Given the description of an element on the screen output the (x, y) to click on. 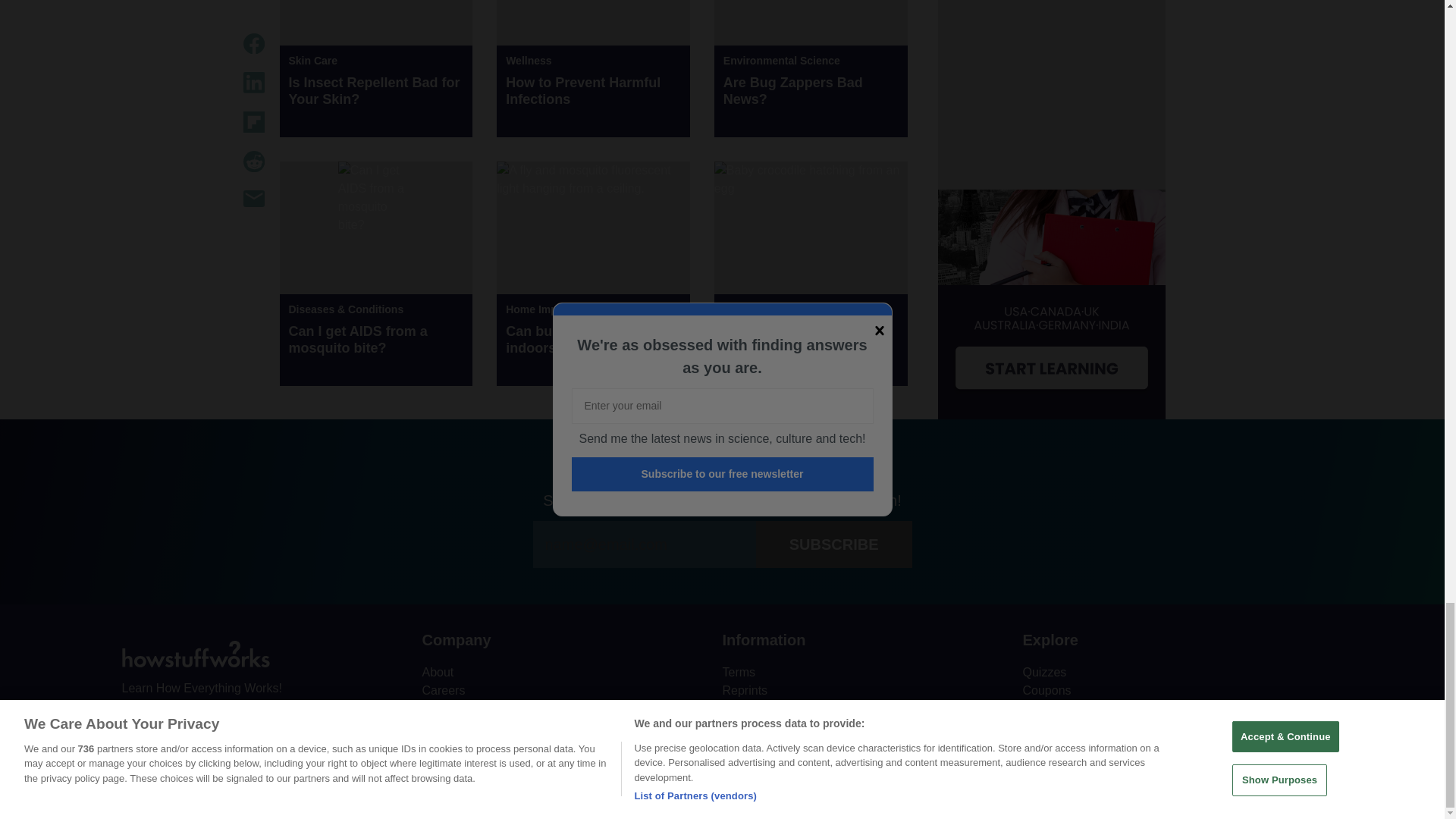
Visit HowStuffWorks on Instagram (213, 723)
Visit HowStuffWorks on YouTube (173, 723)
Subscribe (833, 544)
Visit HowStuffWorks on Facebook (134, 723)
